Given the description of an element on the screen output the (x, y) to click on. 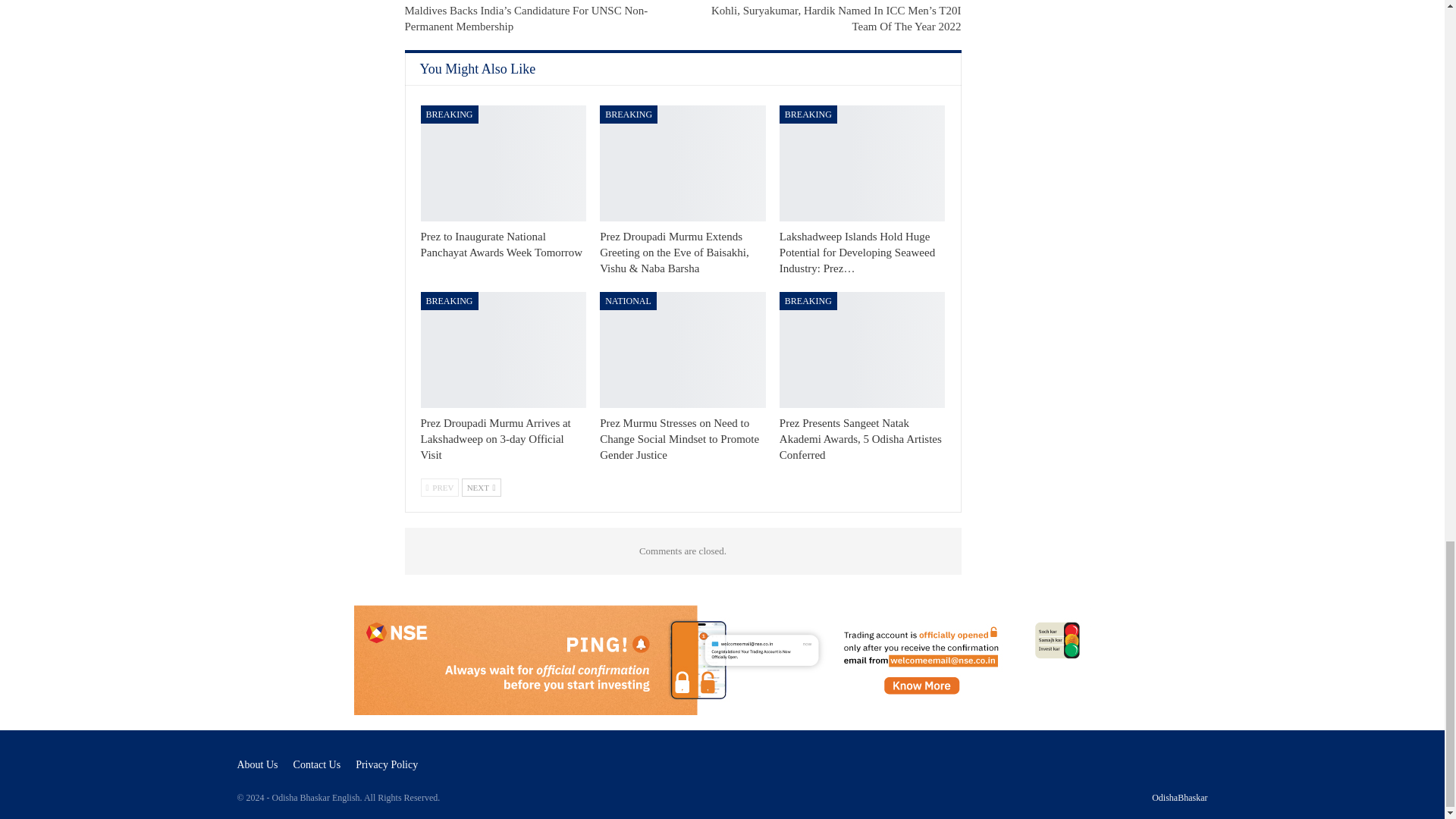
Prez to Inaugurate National Panchayat Awards Week Tomorrow (503, 163)
Prez to Inaugurate National Panchayat Awards Week Tomorrow (501, 244)
